Given the description of an element on the screen output the (x, y) to click on. 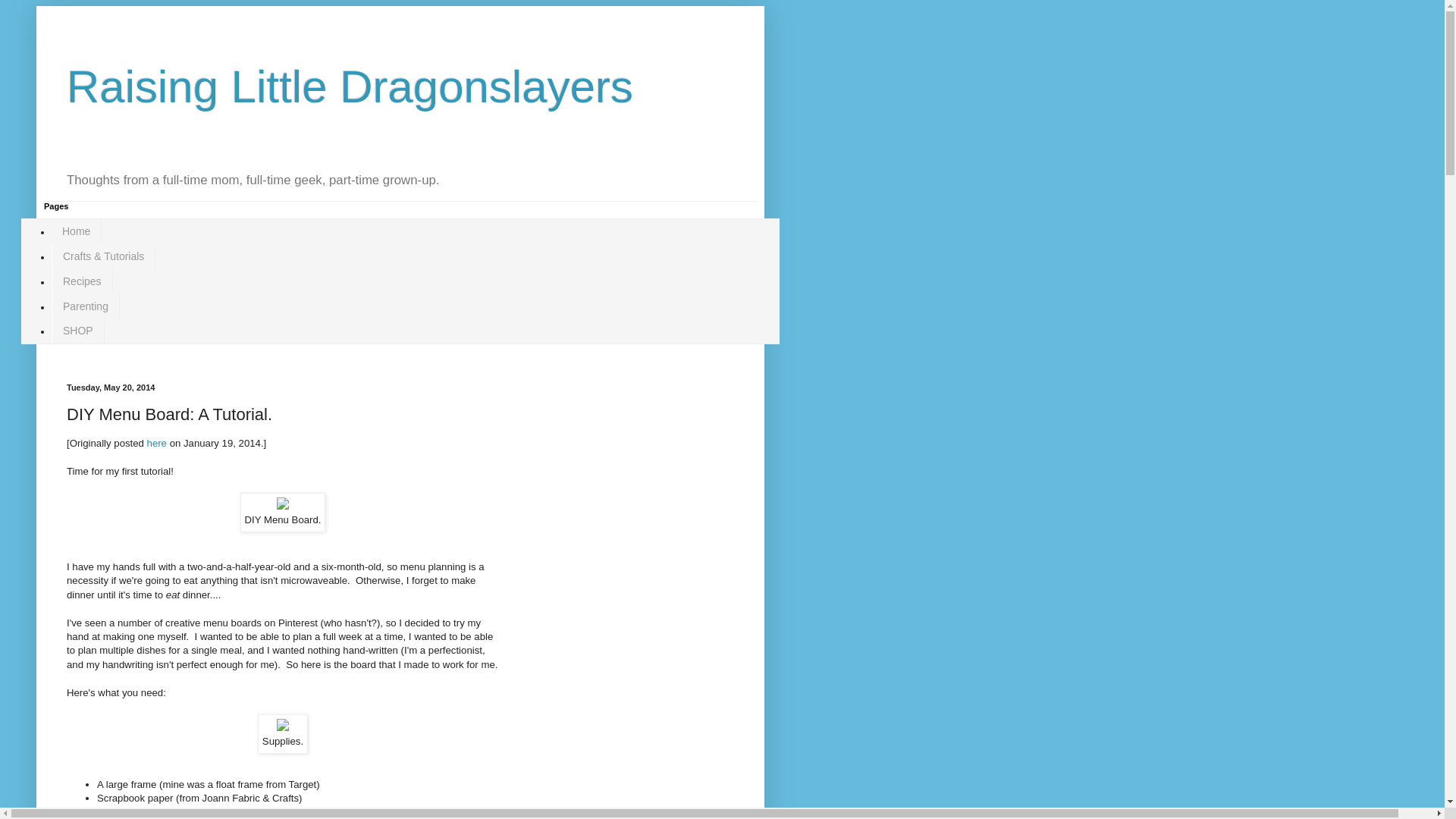
Parenting (84, 305)
here (157, 442)
Recipes (81, 281)
Home (75, 231)
SHOP (77, 330)
Raising Little Dragonslayers (349, 86)
